Given the description of an element on the screen output the (x, y) to click on. 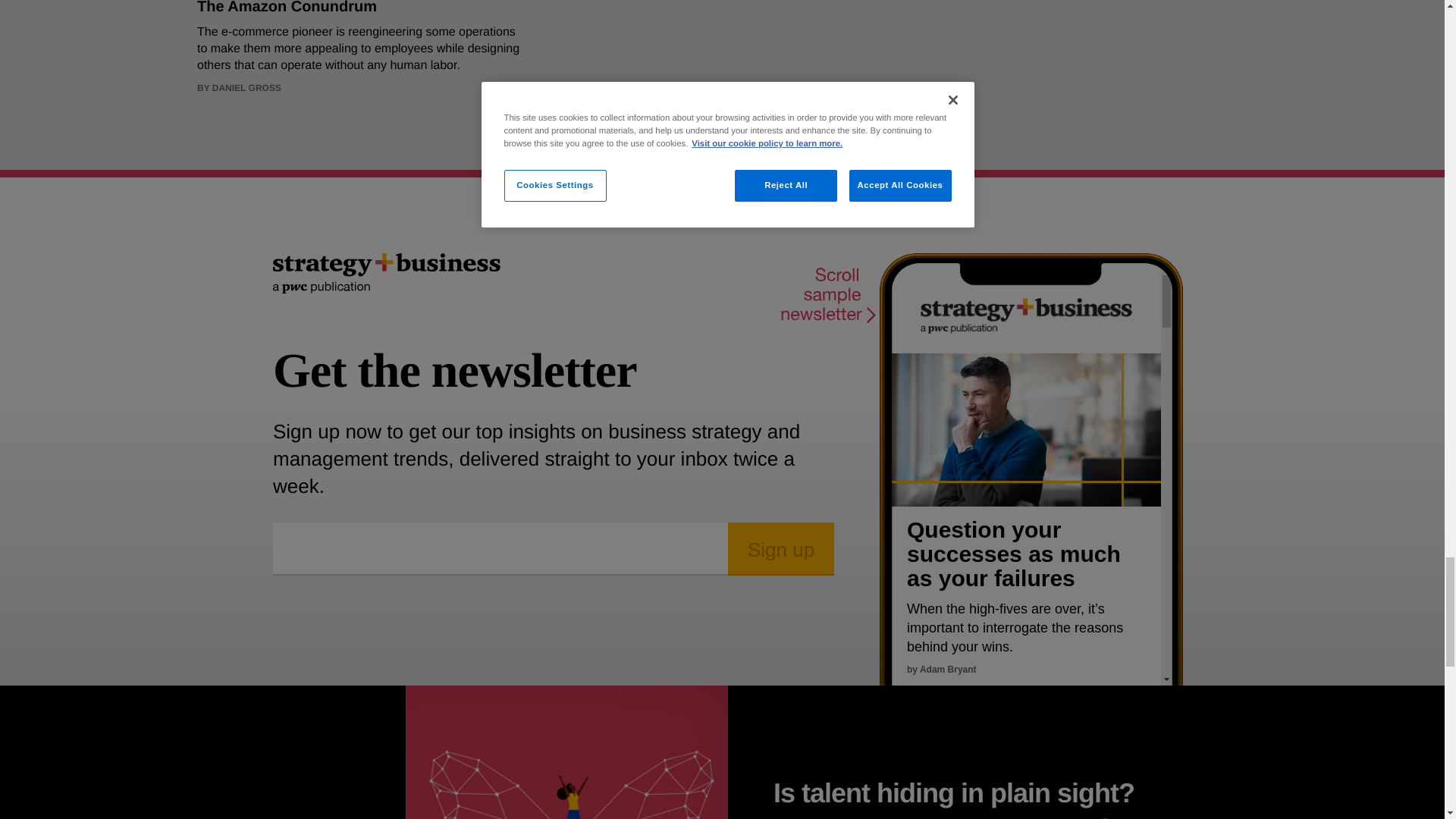
Sign up (781, 548)
